Given the description of an element on the screen output the (x, y) to click on. 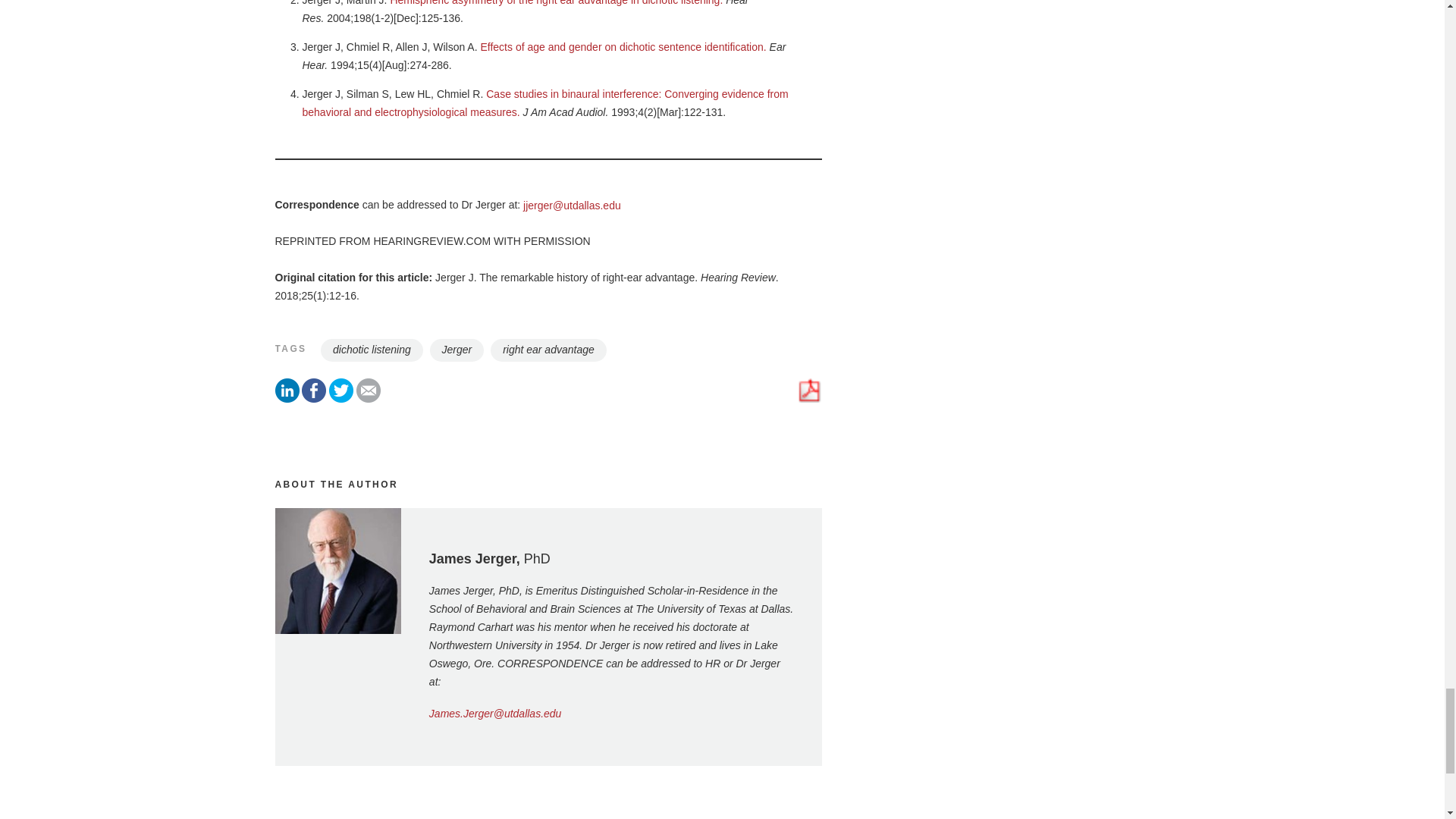
Send email (368, 398)
Share on Facebook (313, 398)
Tweet (341, 398)
Share on LinkedIn (286, 398)
